Given the description of an element on the screen output the (x, y) to click on. 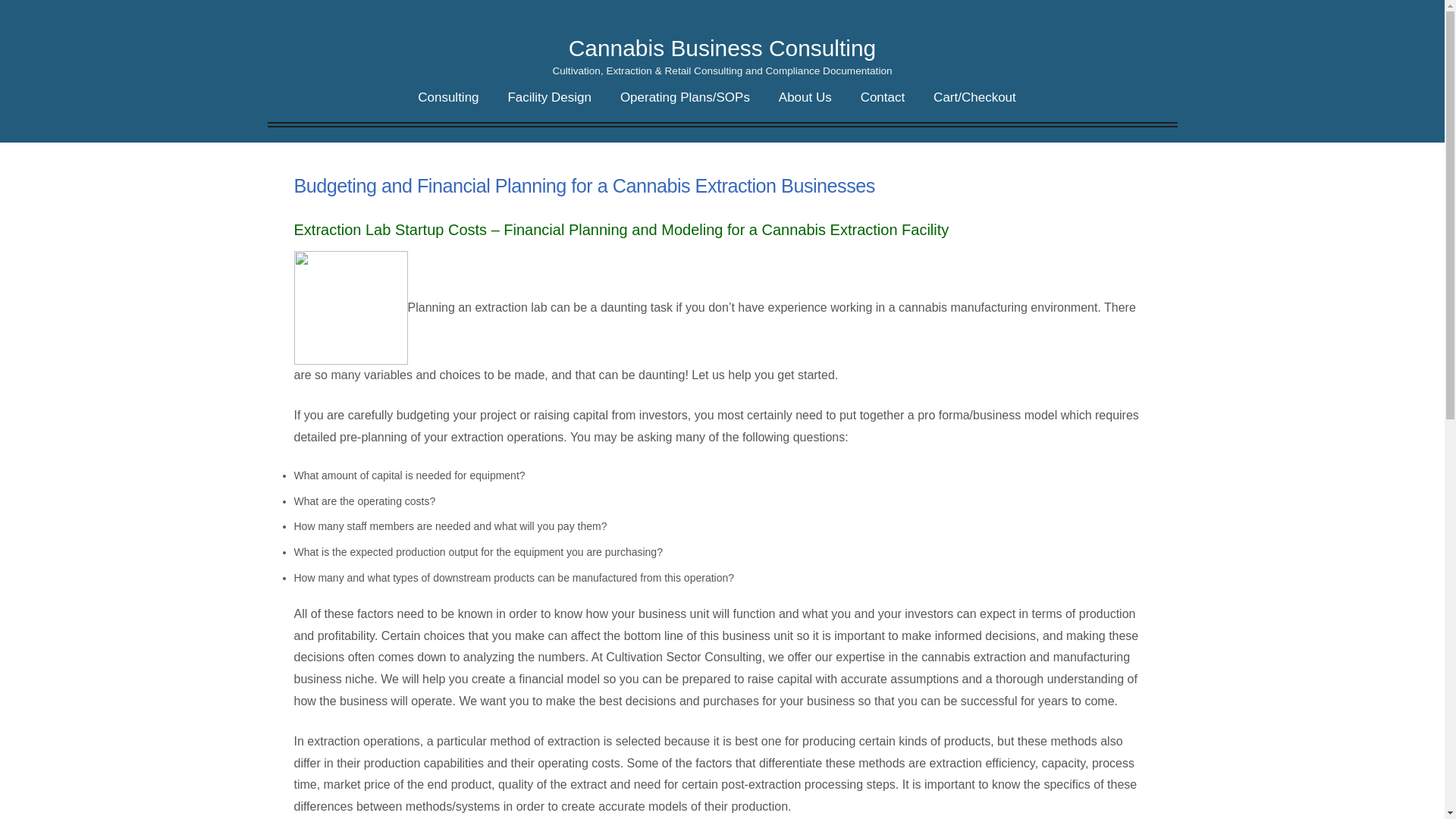
Cannabis Business Consulting (722, 48)
Facility Design (548, 97)
Consulting (448, 97)
